Given the description of an element on the screen output the (x, y) to click on. 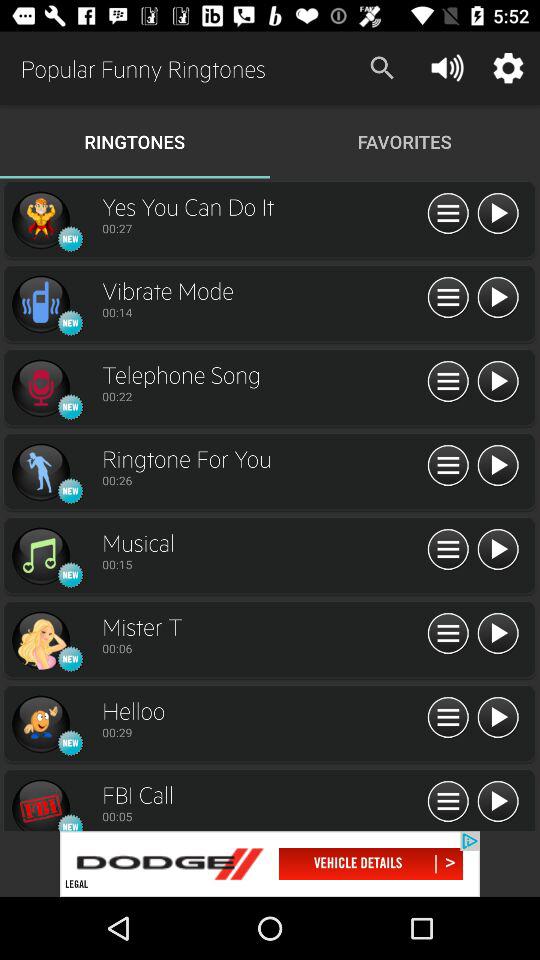
select icon (40, 804)
